Given the description of an element on the screen output the (x, y) to click on. 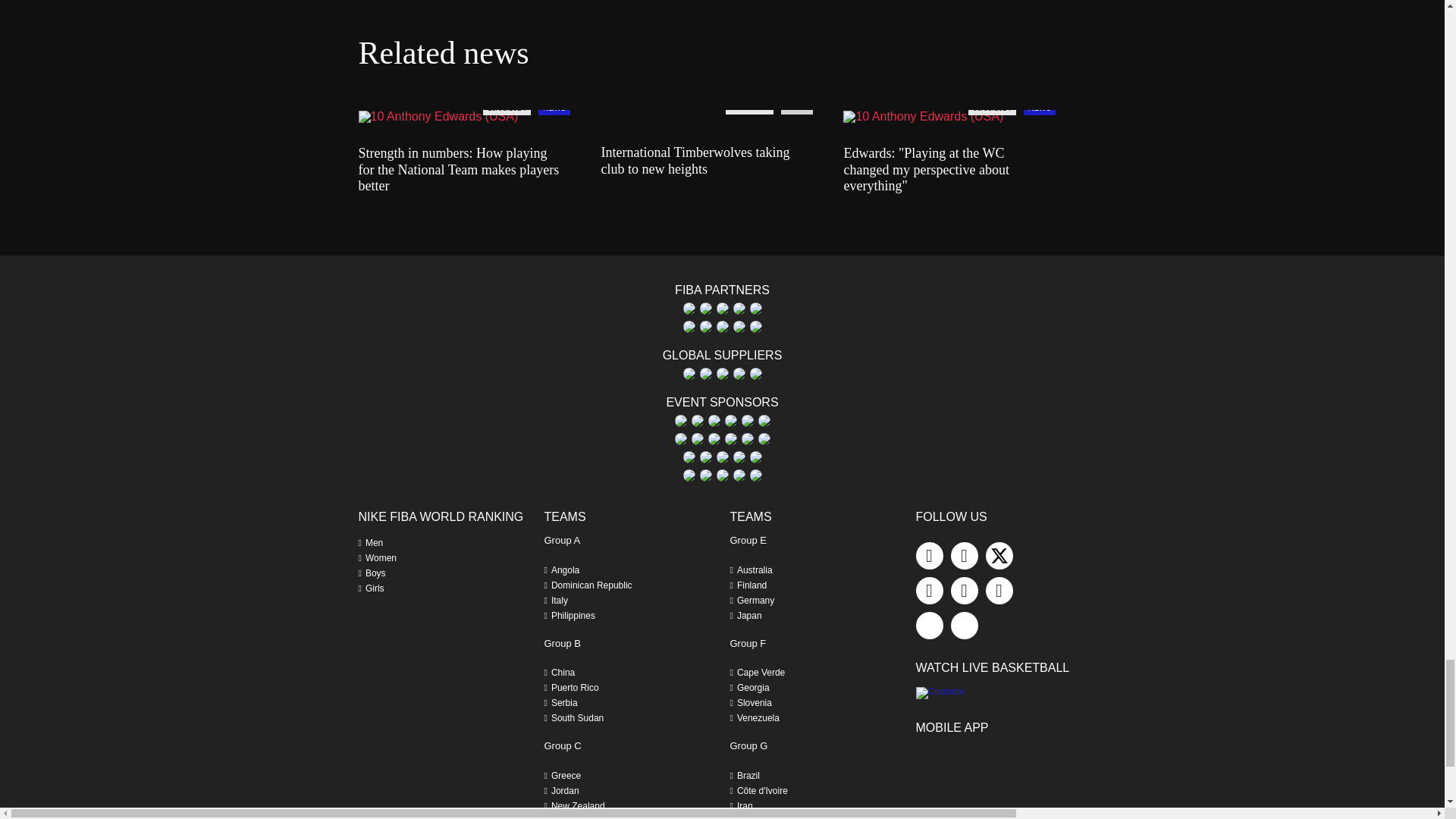
Smart (755, 308)
TCL (688, 326)
Yili (755, 326)
j9.com (704, 308)
Ganten (688, 308)
Molten BG5000 Special Website (722, 308)
Wanda Group (738, 326)
Tissot (722, 326)
Nike (738, 308)
